Given the description of an element on the screen output the (x, y) to click on. 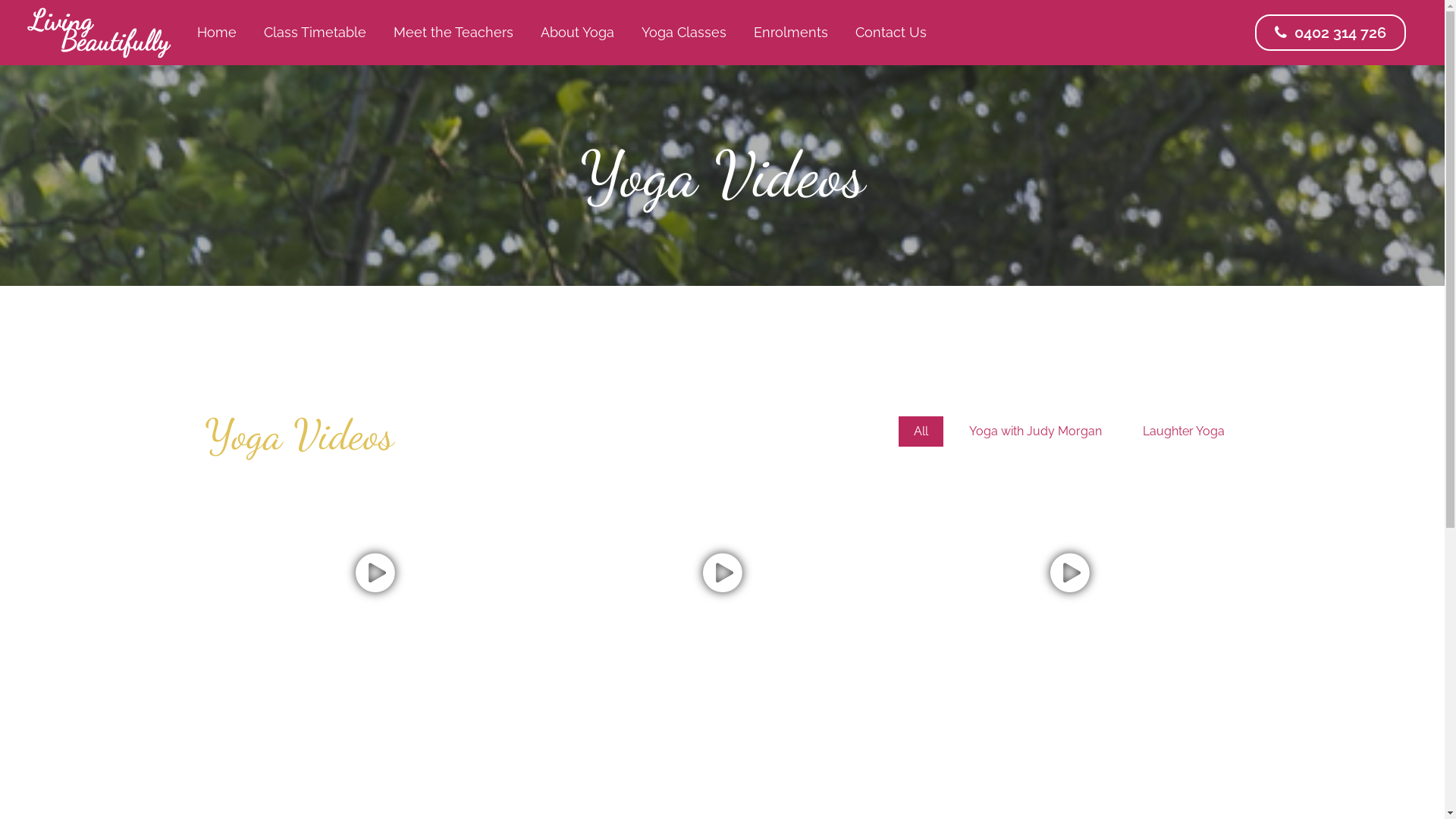
0402 314 726 Element type: text (1330, 32)
Meet the Teachers Element type: text (453, 32)
About Yoga Element type: text (577, 32)
Yoga Classes Element type: text (683, 32)
Class Timetable Element type: text (314, 32)
Enrolments Element type: text (790, 32)
Home Element type: text (216, 32)
Contact Us Element type: text (890, 32)
